Given the description of an element on the screen output the (x, y) to click on. 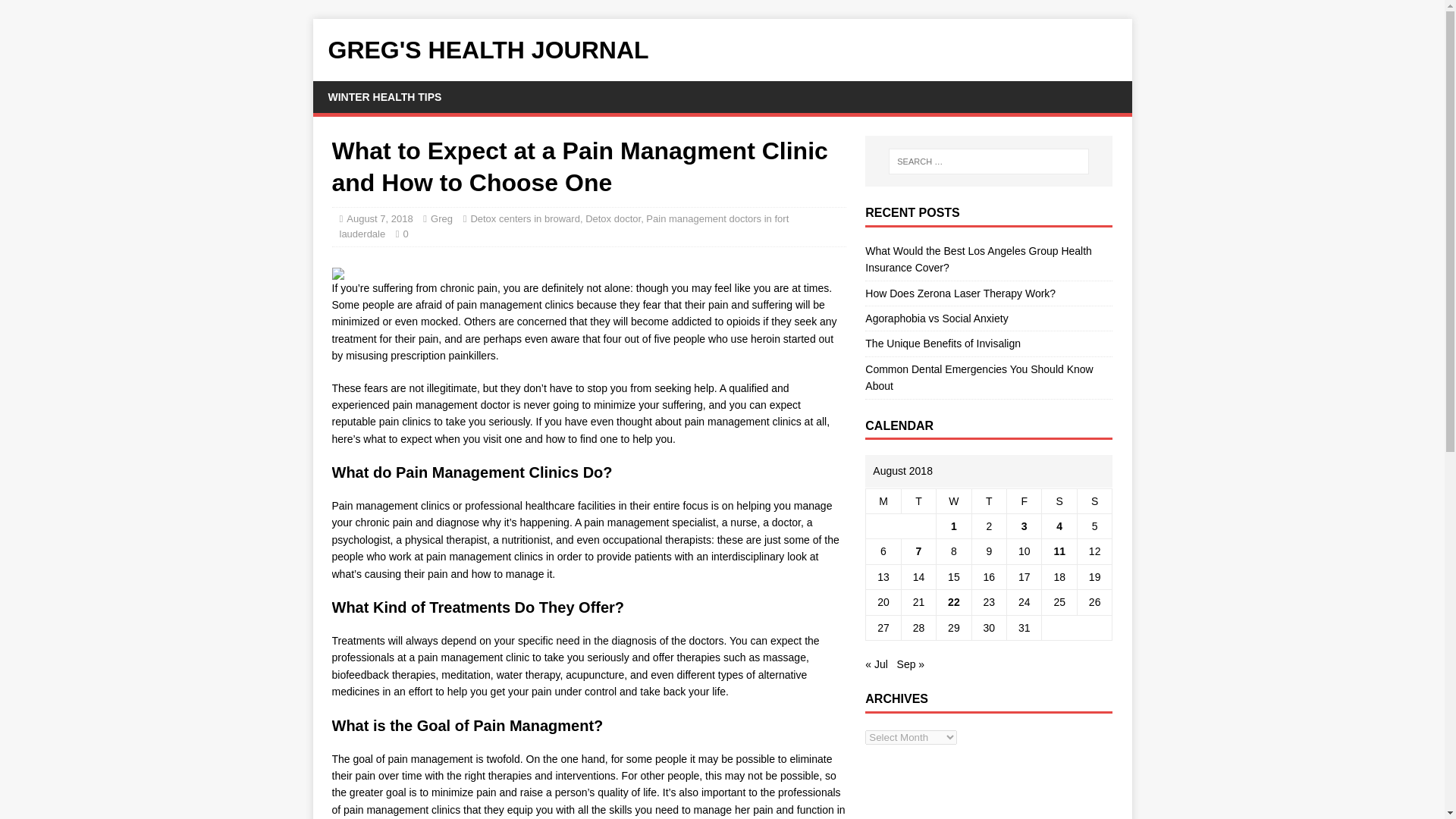
Saturday (1059, 500)
Detox centers in broward (524, 218)
GREG'S HEALTH JOURNAL (721, 49)
August 7, 2018 (379, 218)
Tuesday (918, 500)
Pain management doctors in fort lauderdale (564, 226)
Agoraphobia vs Social Anxiety (935, 318)
Greg (441, 218)
Monday (883, 500)
Common Dental Emergencies You Should Know About (978, 377)
